Given the description of an element on the screen output the (x, y) to click on. 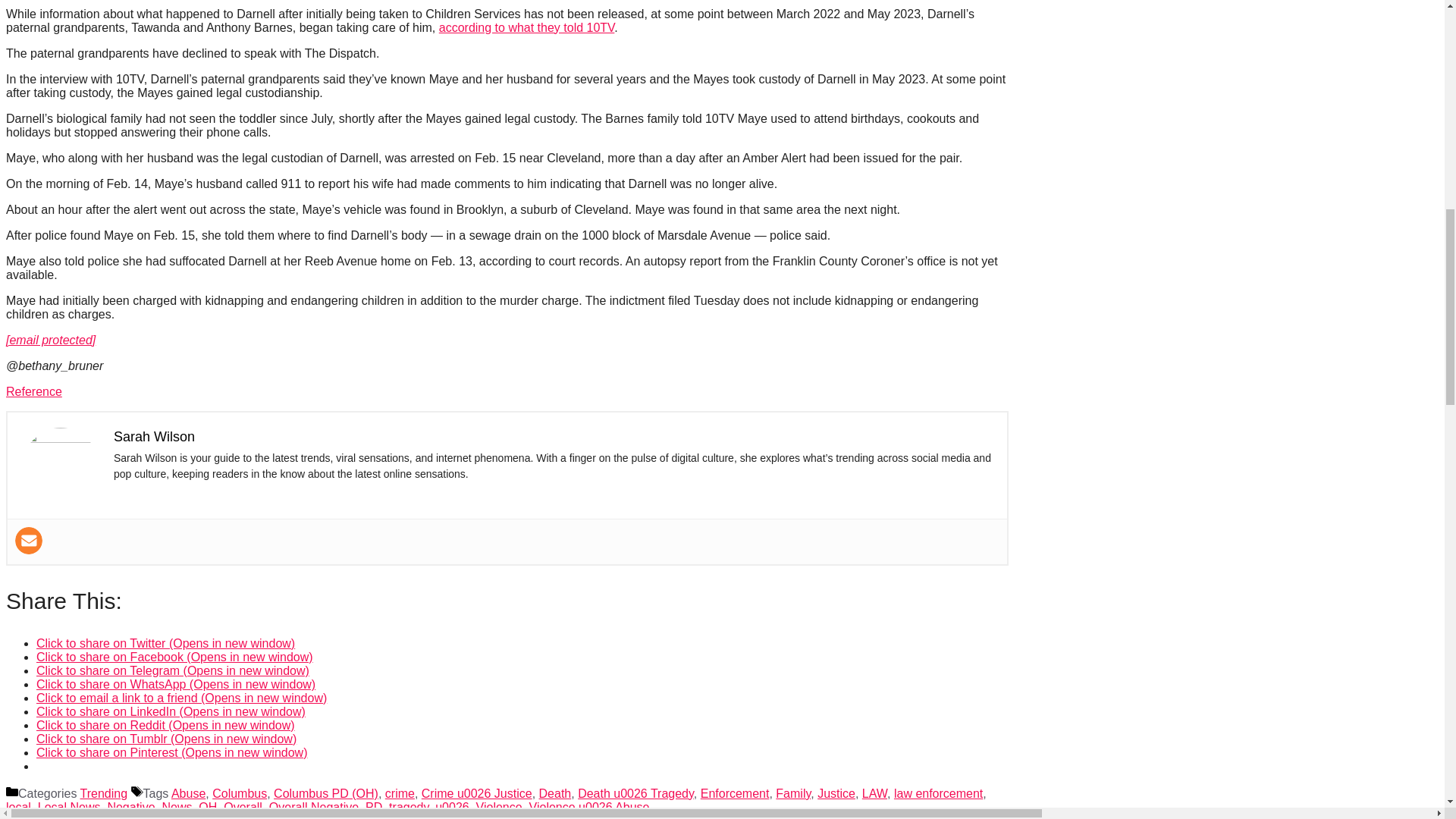
Click to share on WhatsApp (175, 684)
Click to share on Pinterest (171, 752)
Columbus (239, 793)
Sarah Wilson (154, 436)
Click to share on Reddit (165, 725)
Click to share on Facebook (174, 656)
Trending (104, 793)
Click to share on Telegram (172, 670)
Death (555, 793)
Click to share on Tumblr (166, 738)
Crime u0026 Justice (477, 793)
Abuse (188, 793)
Death u0026 Tragedy (636, 793)
Reference (33, 391)
Click to email a link to a friend (181, 697)
